Given the description of an element on the screen output the (x, y) to click on. 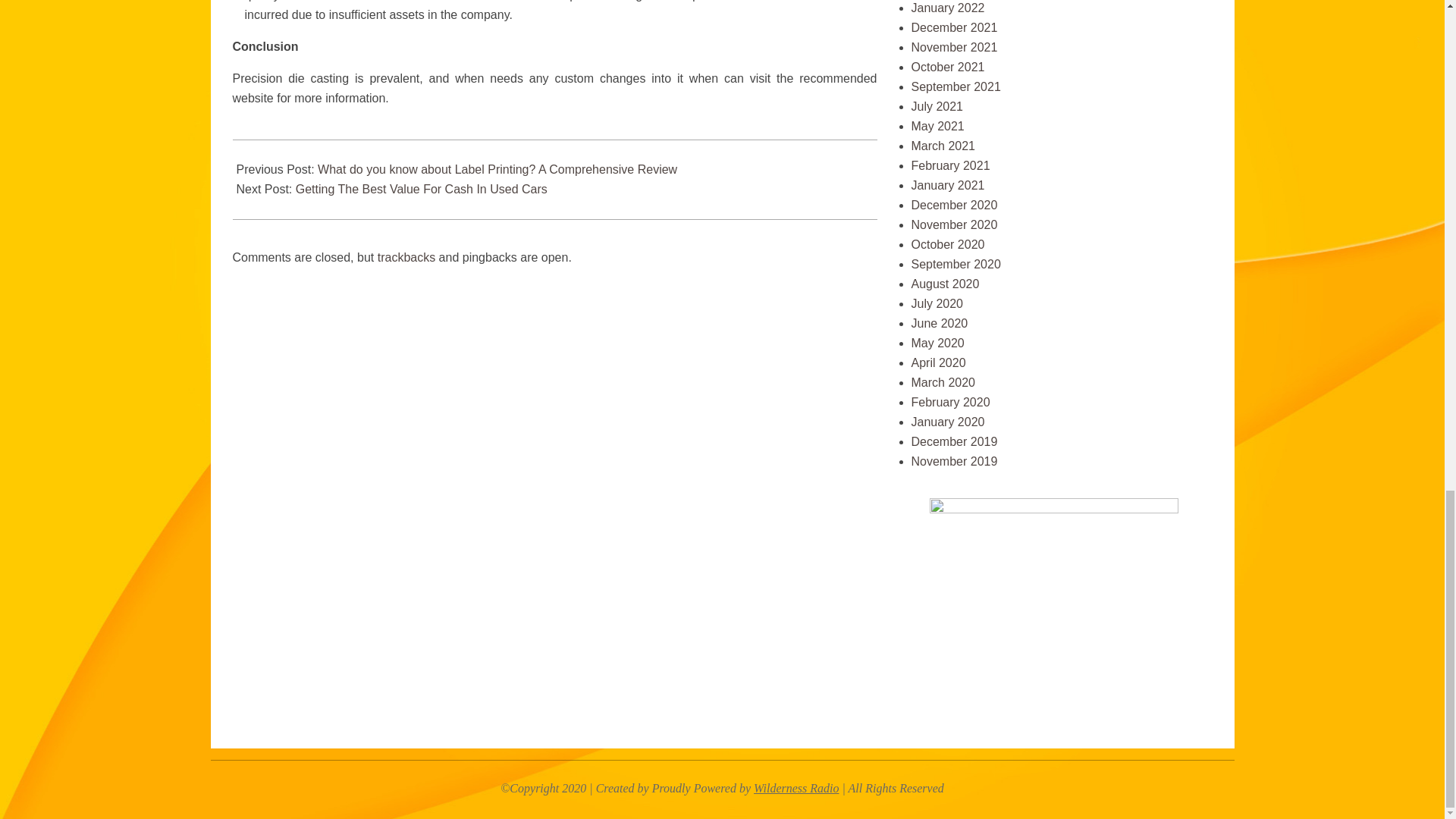
trackbacks (406, 256)
Getting The Best Value For Cash In Used Cars (421, 188)
